Given the description of an element on the screen output the (x, y) to click on. 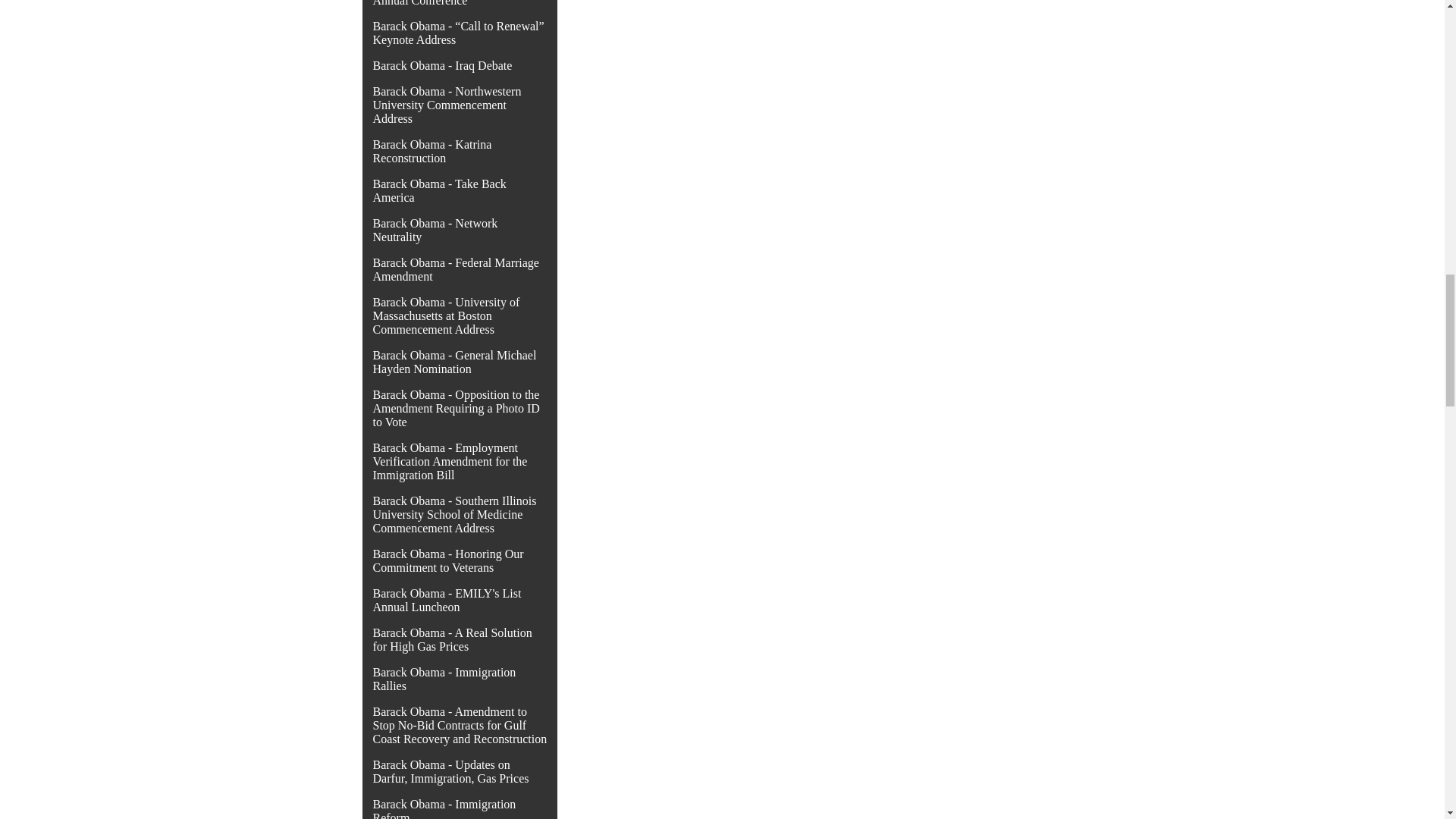
Barack Obama - Iraq Debate (442, 65)
Barack Obama - Campus Progress Annual Conference (456, 3)
Barack Obama - Northwestern University Commencement Address (446, 105)
